Given the description of an element on the screen output the (x, y) to click on. 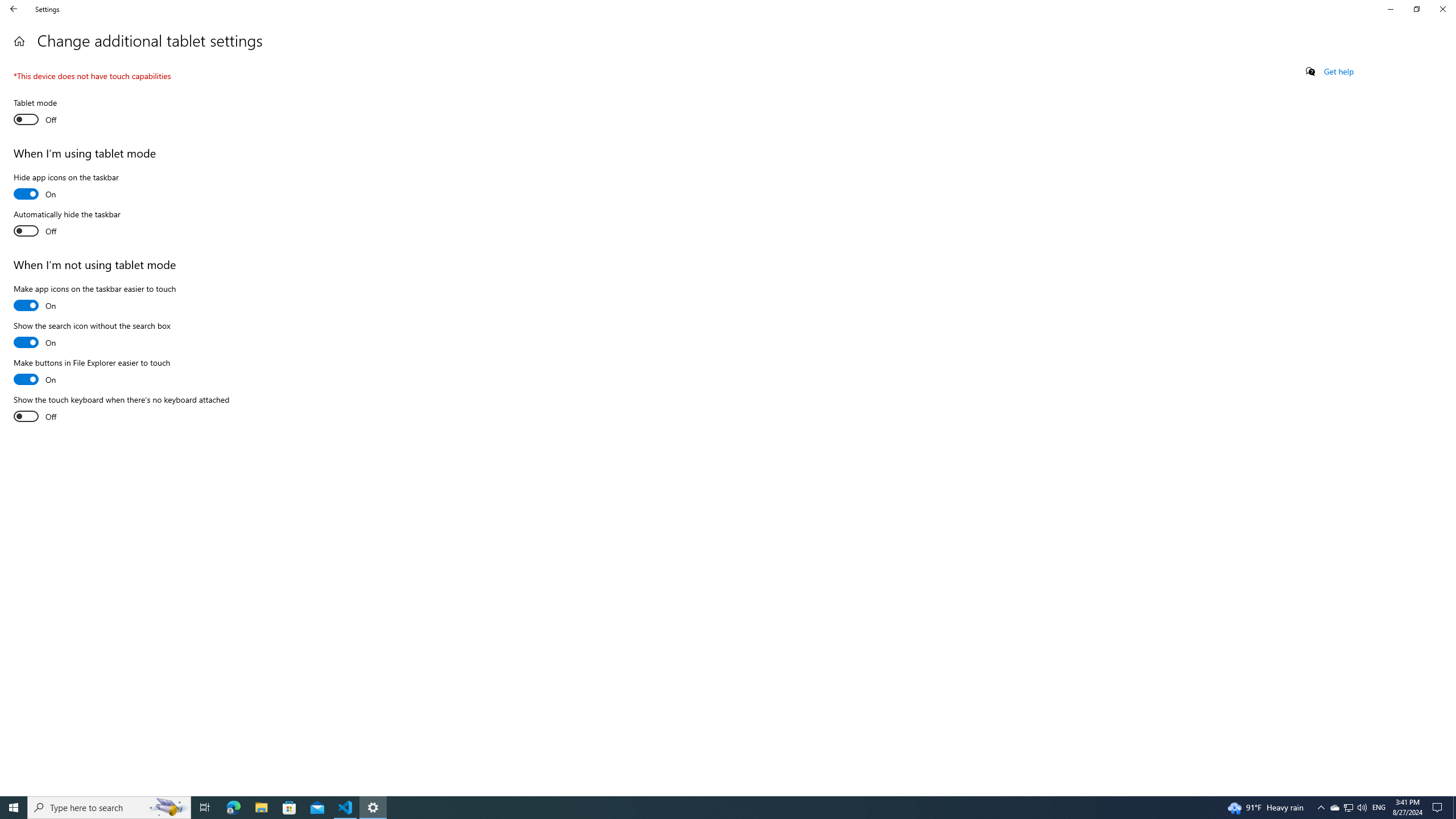
Restore Settings (1416, 9)
Hide app icons on the taskbar (66, 187)
Close Settings (1442, 9)
Tablet mode (55, 112)
Automatically hide the taskbar (66, 223)
Home (19, 40)
Minimize Settings (1390, 9)
Make buttons in File Explorer easier to touch (91, 372)
